Given the description of an element on the screen output the (x, y) to click on. 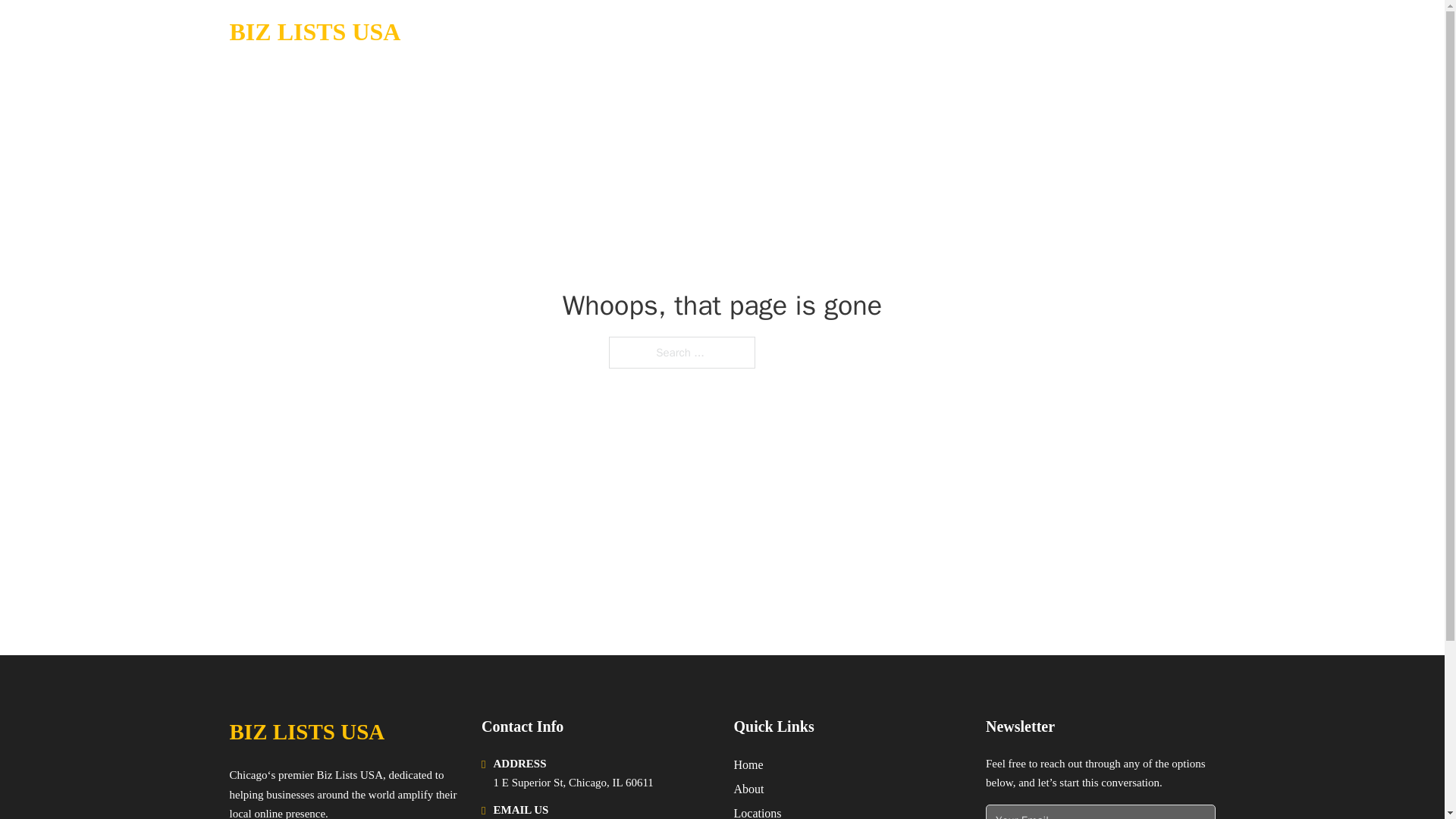
About (748, 788)
LOCATIONS (1098, 31)
Locations (757, 811)
BIZ LISTS USA (314, 31)
HOME (1025, 31)
Home (747, 764)
BIZ LISTS USA (306, 732)
